Given the description of an element on the screen output the (x, y) to click on. 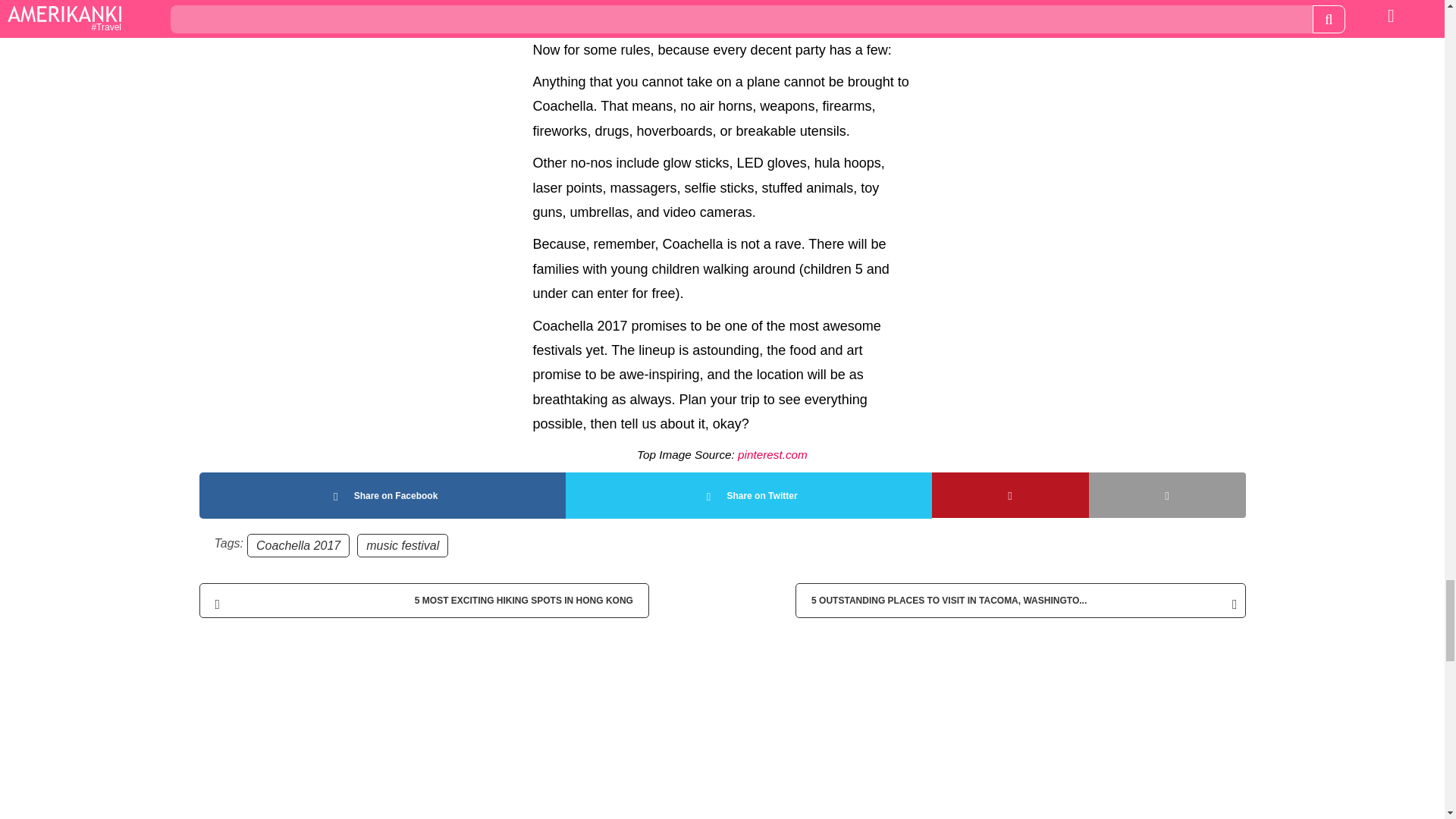
Share on Twitter (748, 495)
5 MOST EXCITING HIKING SPOTS IN HONG KONG (422, 600)
5 Outstanding Places to Visit in Tacoma, Washington (1019, 600)
pinterest.com (773, 454)
5 Most Exciting Hiking Spots in Hong Kong (422, 600)
5 OUTSTANDING PLACES TO VISIT IN TACOMA, WASHINGTO... (1019, 600)
Share on Facebook (381, 495)
